Given the description of an element on the screen output the (x, y) to click on. 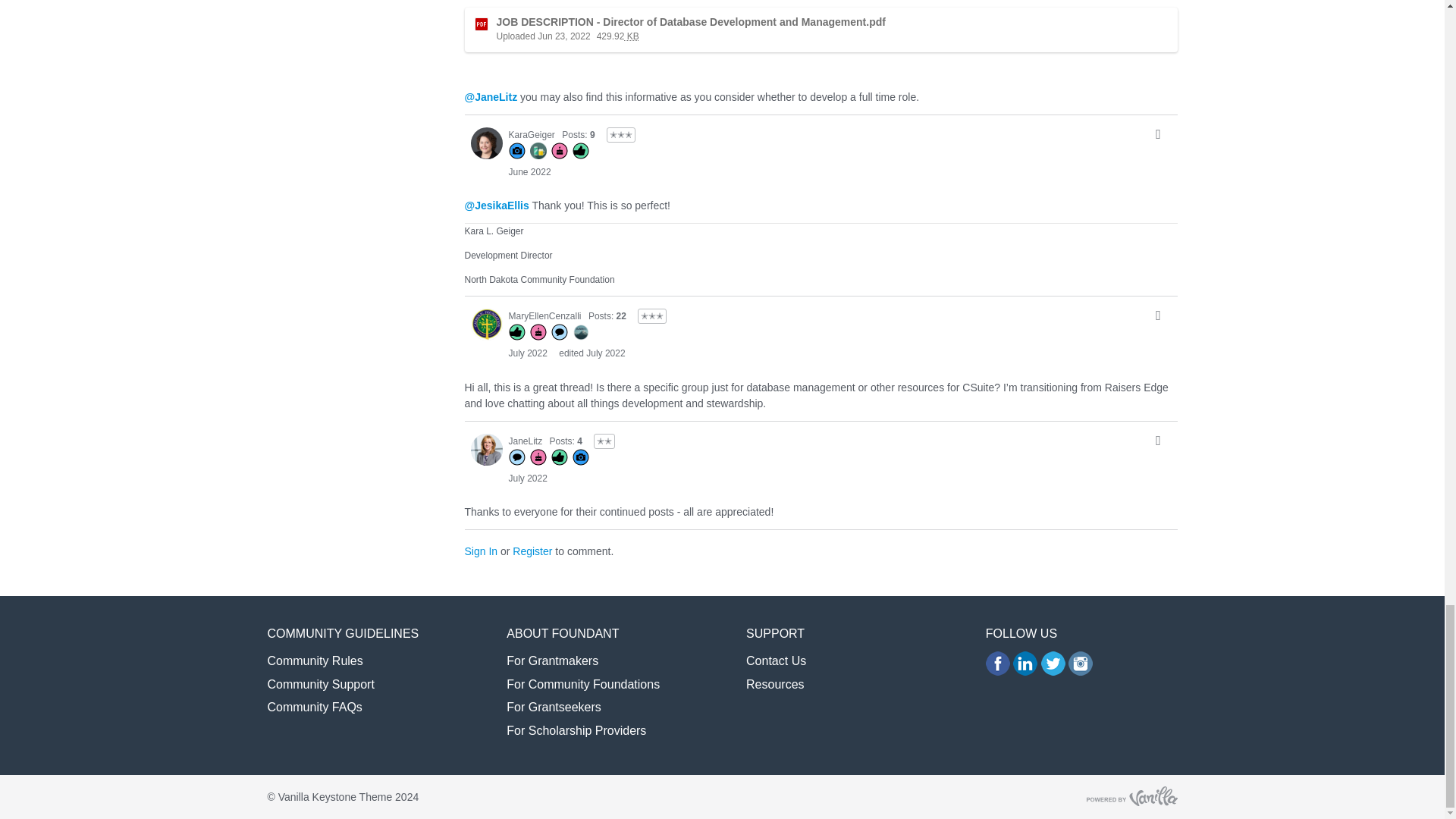
Powered By Vanilla (1131, 795)
